Given the description of an element on the screen output the (x, y) to click on. 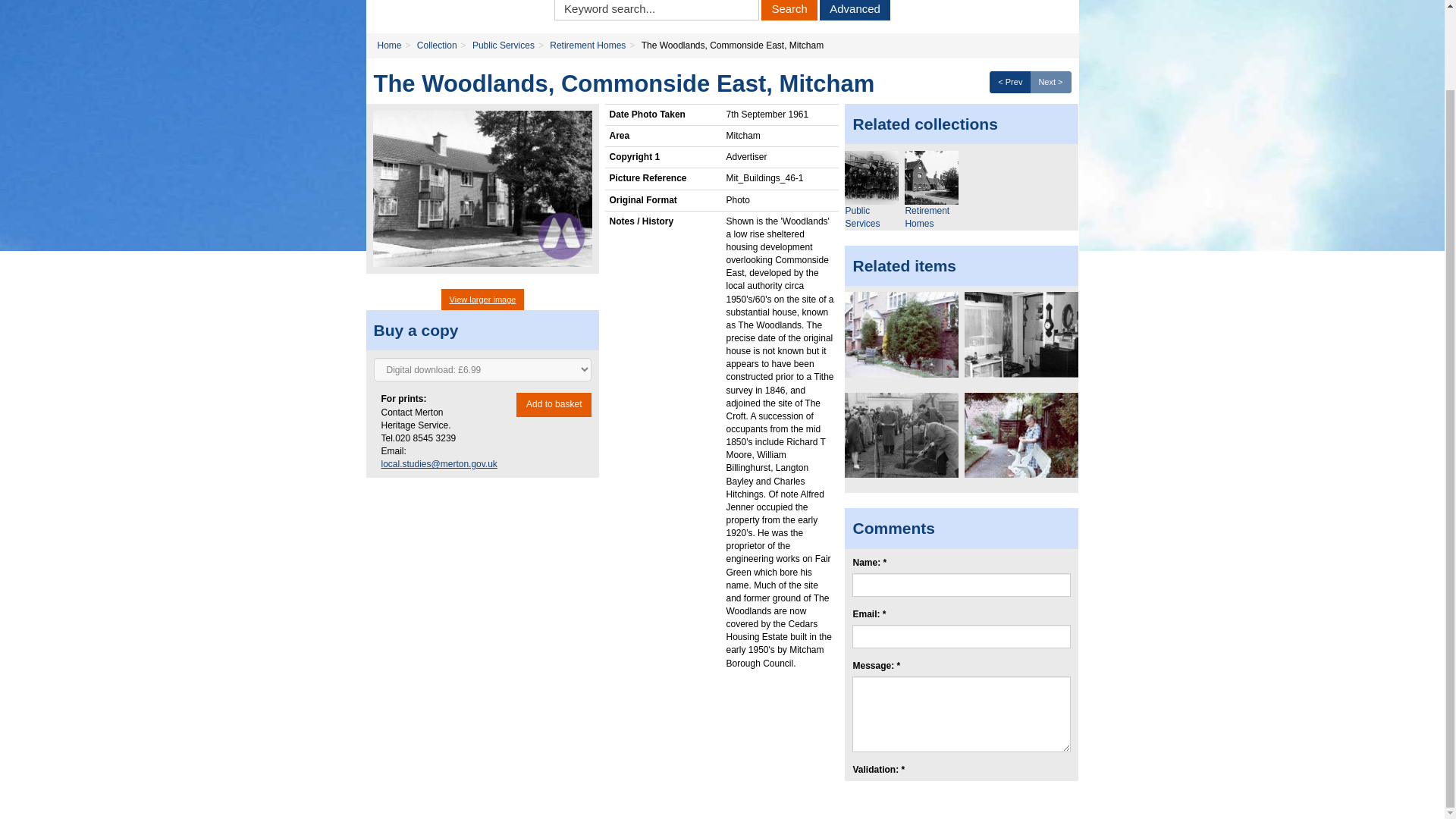
Public Services (502, 45)
Lancaster Avenue, Lee House, Wimbledon (1020, 435)
Public Services (871, 177)
Glebelands Old People's Home, Mitcham (901, 435)
Lancaster Avenue, Lee House, Wimbledon (901, 333)
Home (389, 45)
Advanced (854, 10)
Previous image (1010, 82)
Add to basket (553, 404)
Search (788, 10)
The Woodlands, Commonside East, Mitcham (482, 188)
View larger image (482, 300)
Retirement Homes (931, 177)
Collection (436, 45)
Retirement Homes (588, 45)
